Given the description of an element on the screen output the (x, y) to click on. 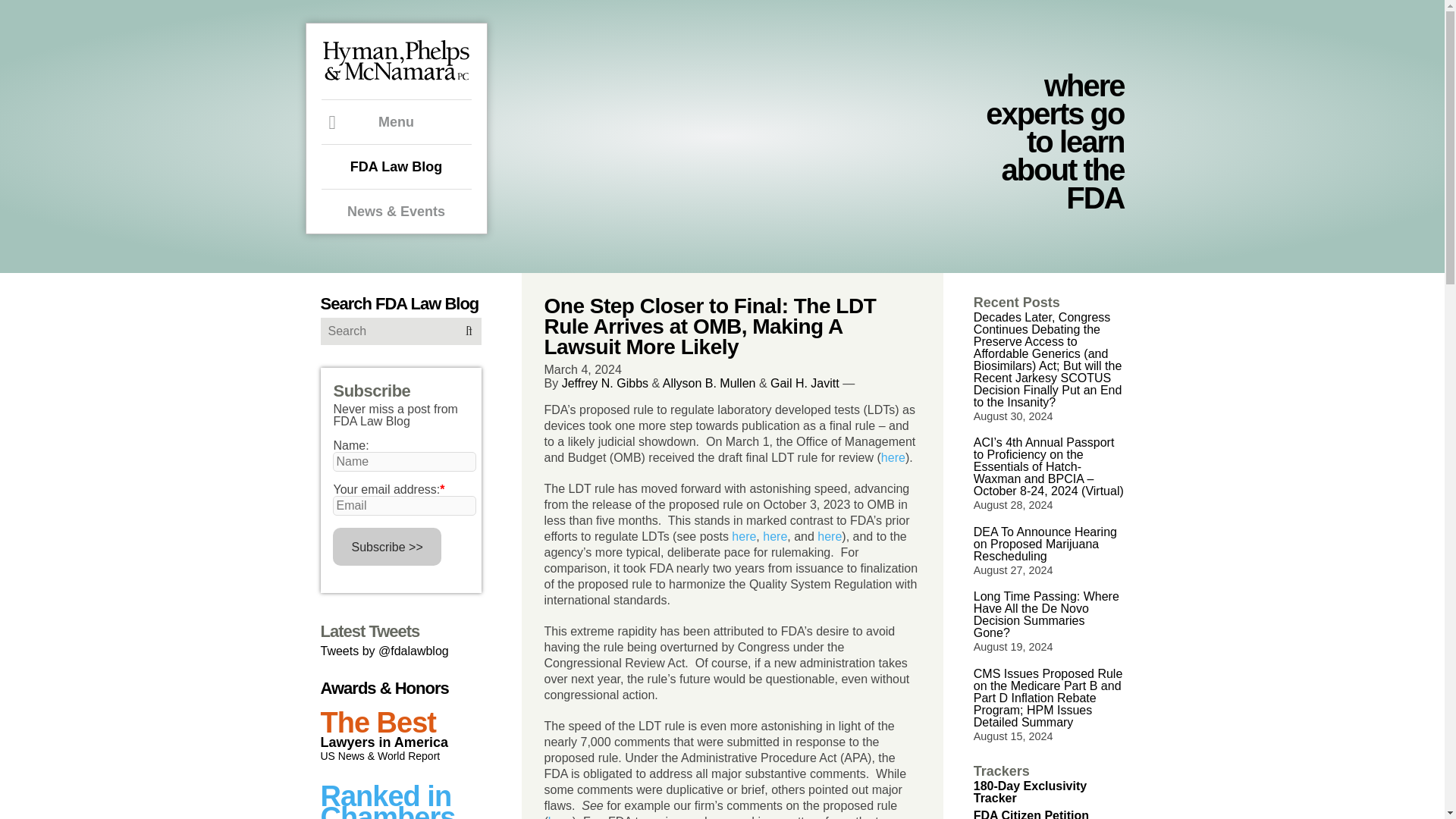
FDA Law Blog (396, 166)
DEA To Announce Hearing on Proposed Marijuana Rescheduling (1045, 543)
FDA Citizen Petition Tracker (1031, 814)
Allyson B. Mullen (708, 382)
180-Day Exclusivity Tracker (1030, 791)
Jeffrey N. Gibbs (604, 382)
